Given the description of an element on the screen output the (x, y) to click on. 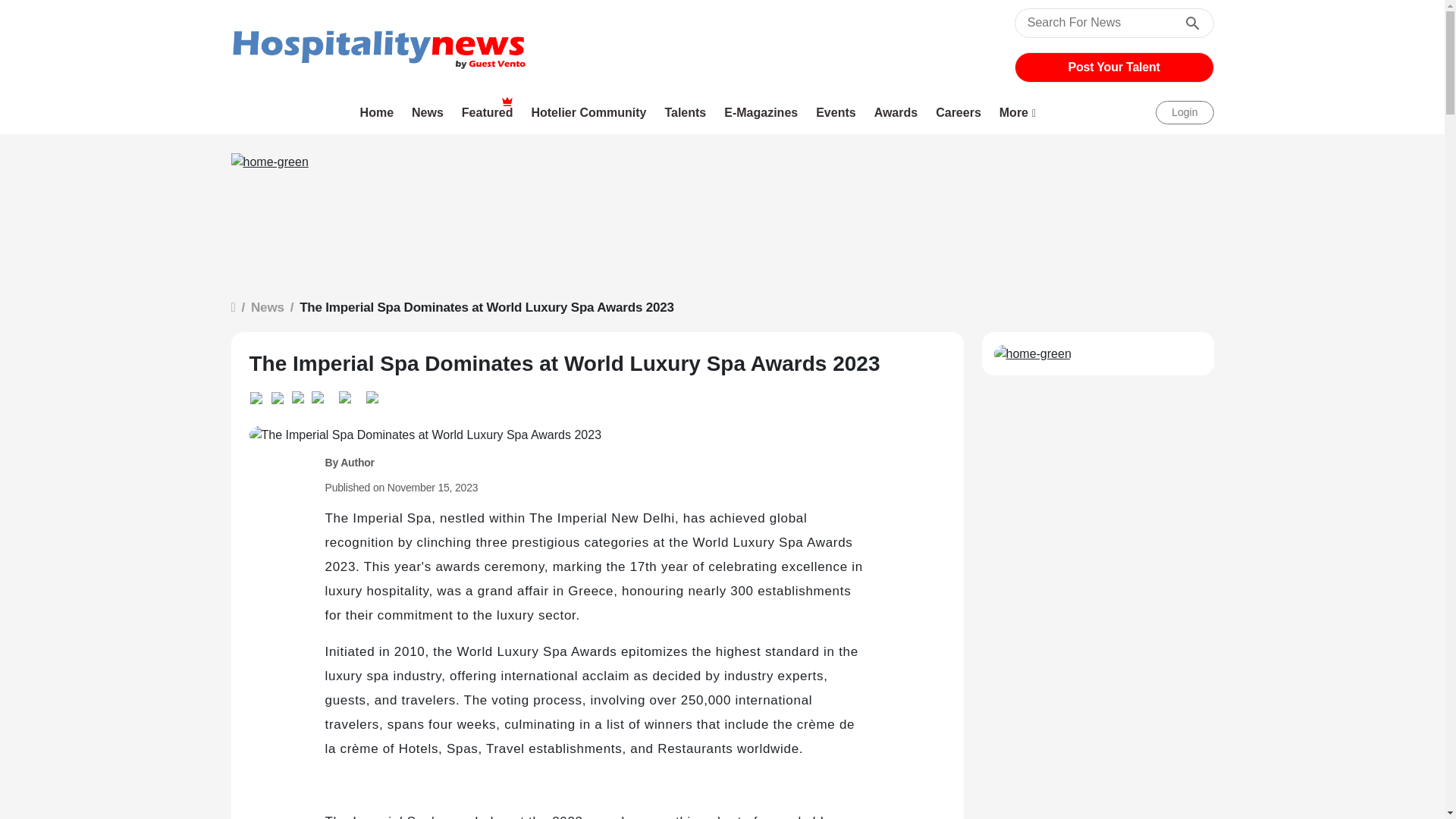
Post Your Talent (1114, 67)
Linkedin (280, 395)
Facebook (320, 394)
Home (378, 112)
Save (371, 394)
Whatsapp (258, 395)
Twitter (301, 394)
News (427, 112)
Copy (344, 394)
